Given the description of an element on the screen output the (x, y) to click on. 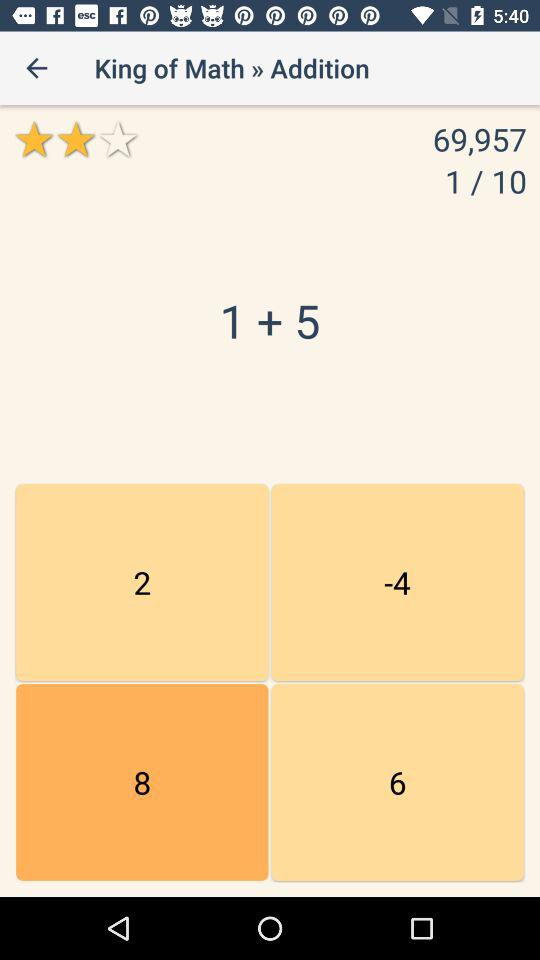
press the icon to the left of the 25 icon (142, 781)
